Given the description of an element on the screen output the (x, y) to click on. 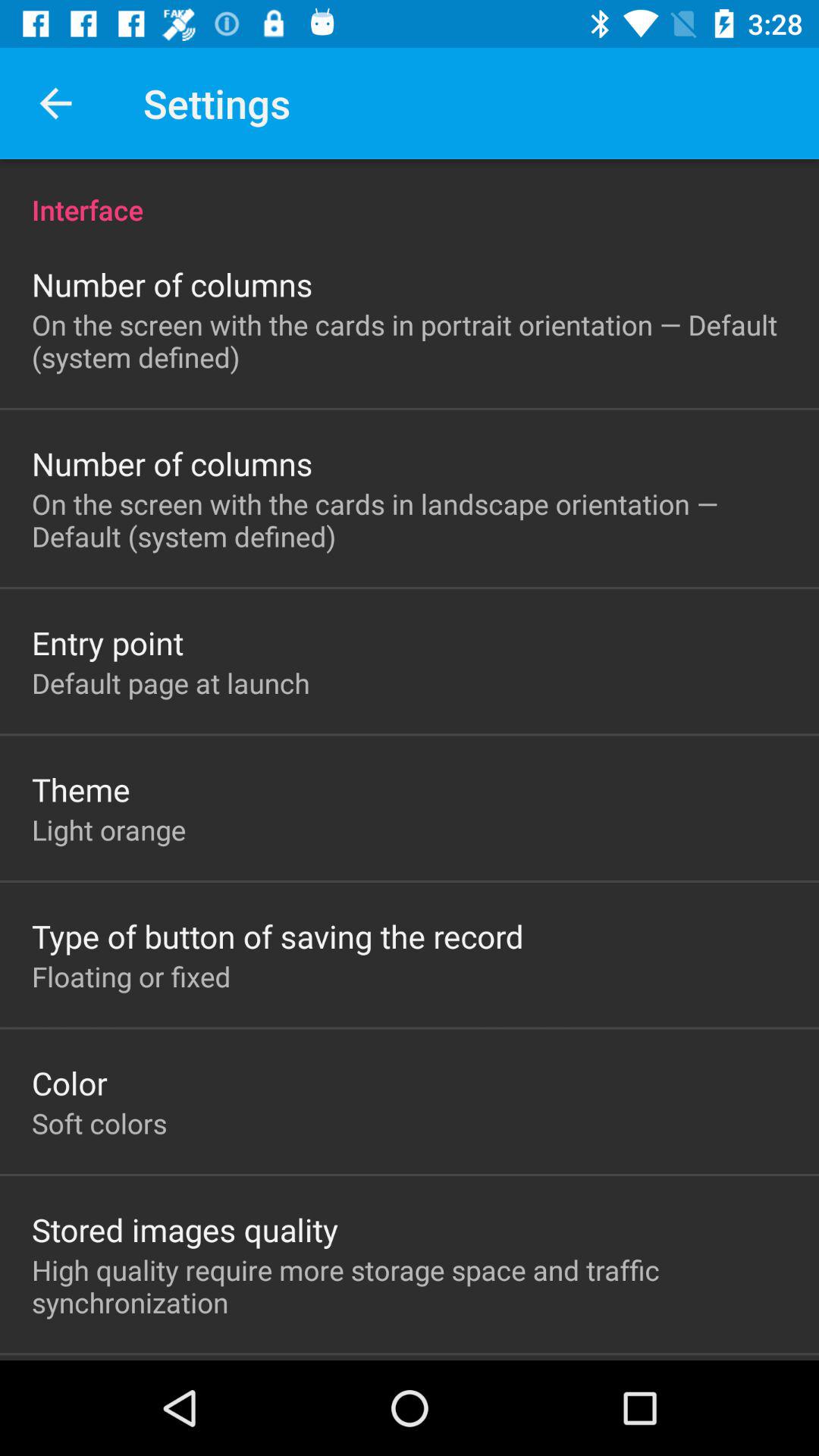
swipe to the interface icon (409, 193)
